Given the description of an element on the screen output the (x, y) to click on. 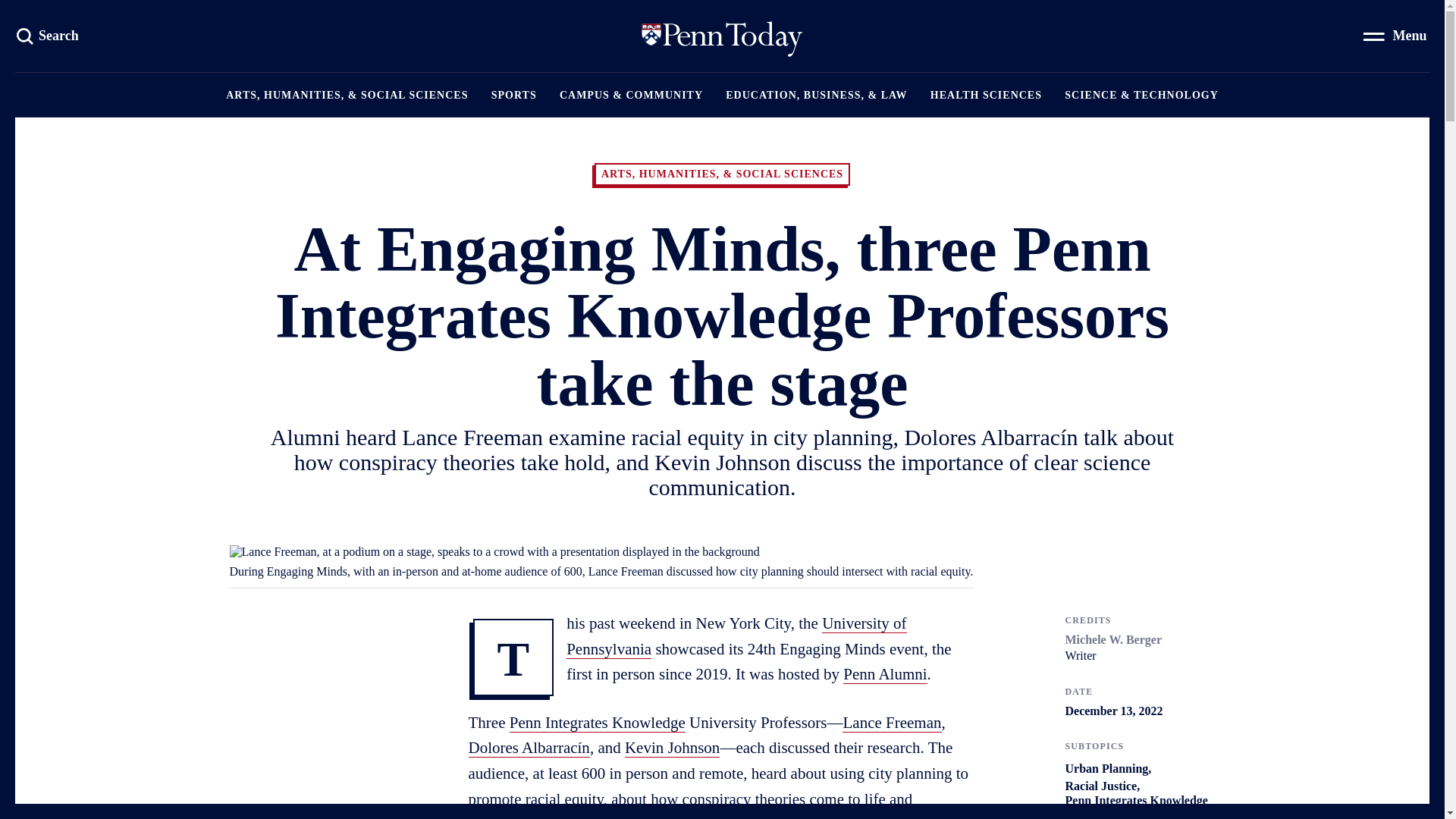
HEALTH SCIENCES (986, 95)
Search (48, 35)
SPORTS (514, 95)
Penn Today Logo (48, 35)
SKIP TO MAIN CONTENT (722, 35)
